Given the description of an element on the screen output the (x, y) to click on. 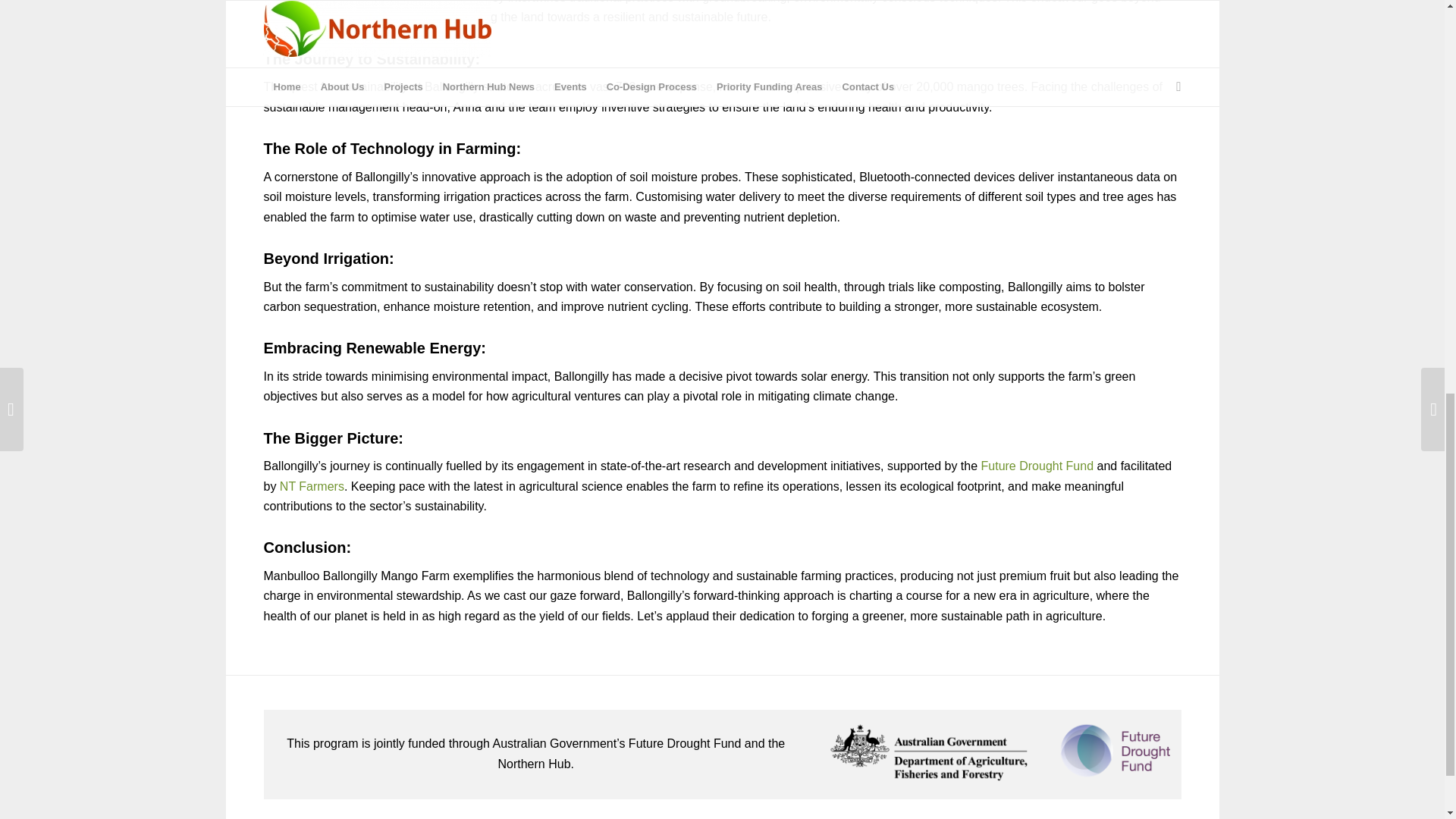
NT Farmers (311, 486)
